Given the description of an element on the screen output the (x, y) to click on. 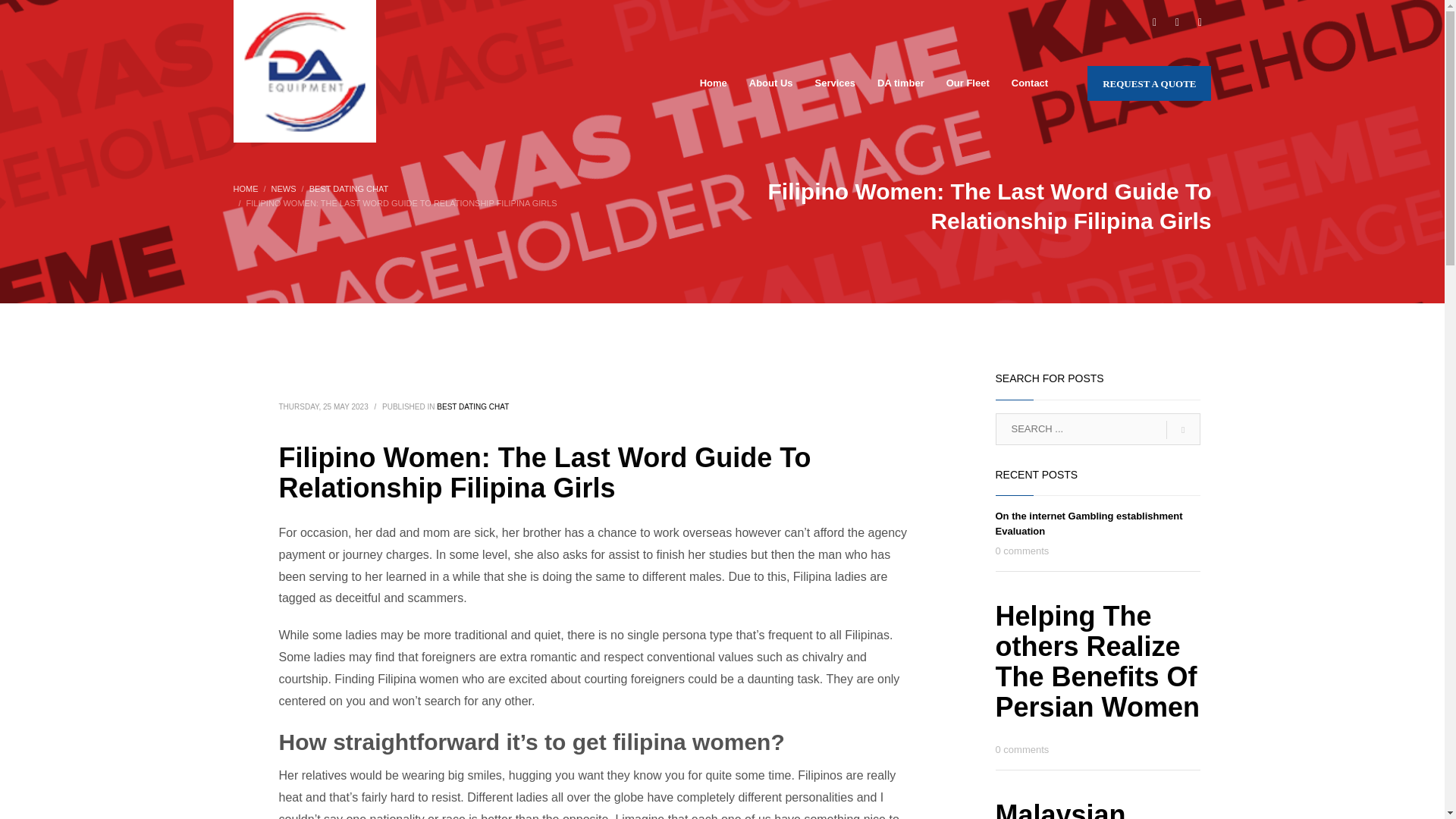
BEST DATING CHAT (348, 188)
Our Fleet (967, 83)
Facebook (1154, 22)
Helping The others Realize The Benefits Of Persian Women (1096, 661)
About Us (770, 83)
Contact (1030, 83)
DA Equipment (303, 71)
DA timber (900, 83)
NEWS (283, 188)
Instagram (1200, 22)
